Given the description of an element on the screen output the (x, y) to click on. 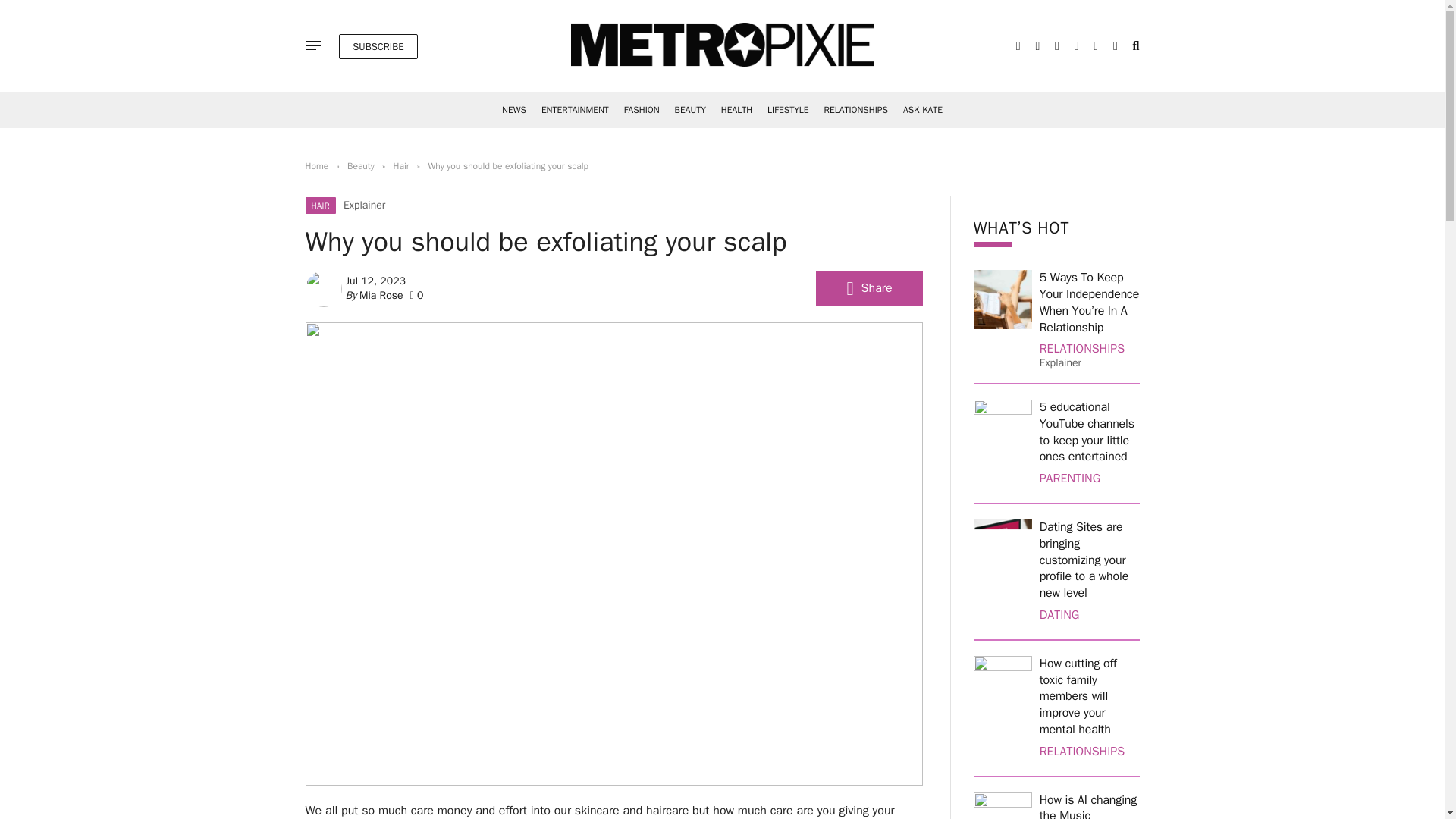
BEAUTY (690, 110)
LIFESTYLE (787, 110)
ENTERTAINMENT (574, 110)
NEWS (513, 110)
SUBSCRIBE (377, 46)
HEALTH (736, 110)
FASHION (641, 110)
